Given the description of an element on the screen output the (x, y) to click on. 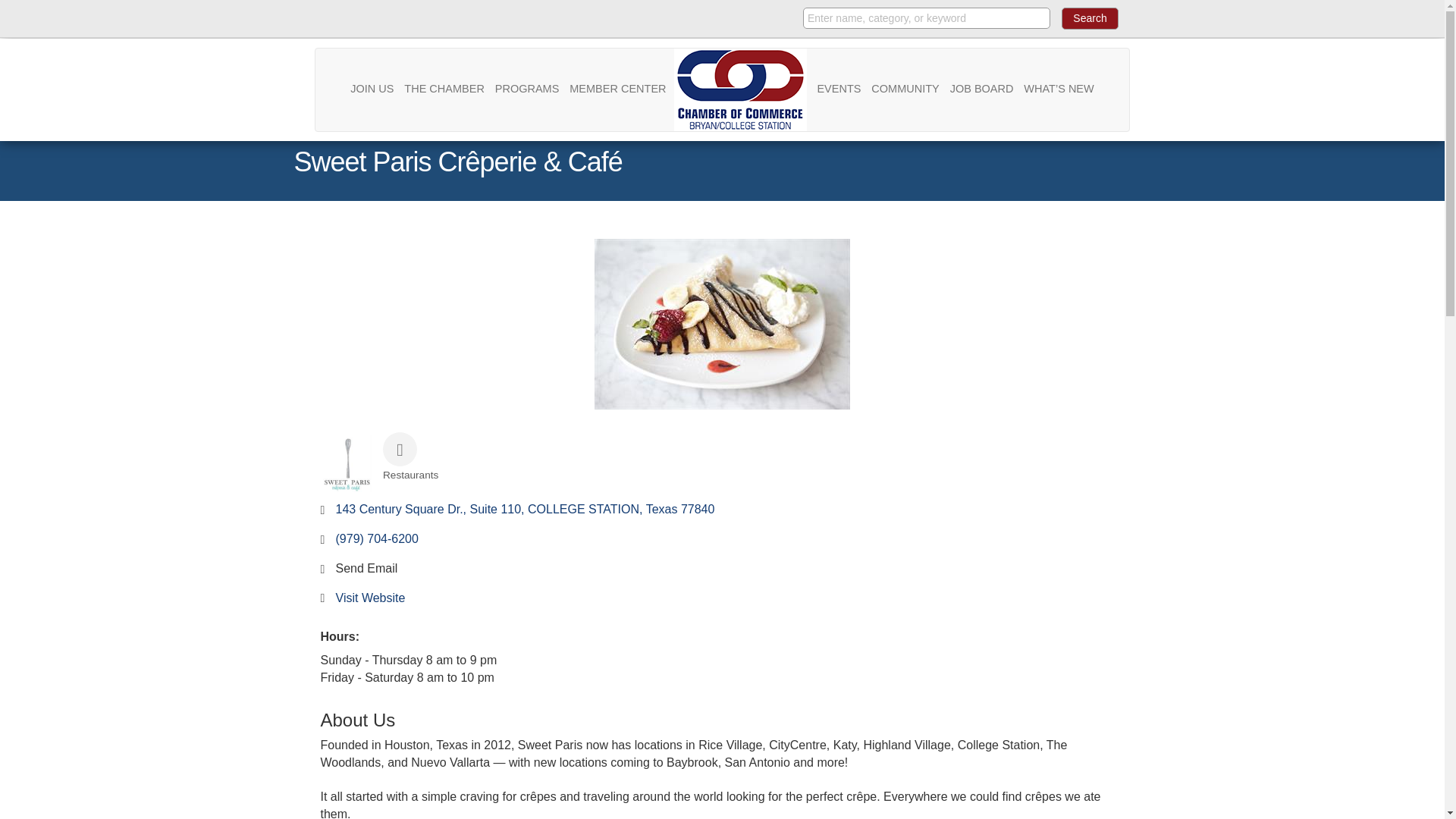
PROGRAMS (527, 88)
Search (1089, 18)
THE CHAMBER (443, 88)
Search (1089, 18)
EVENTS (838, 88)
MEMBER CENTER (617, 88)
JOIN US (371, 88)
Search (1089, 18)
